Given the description of an element on the screen output the (x, y) to click on. 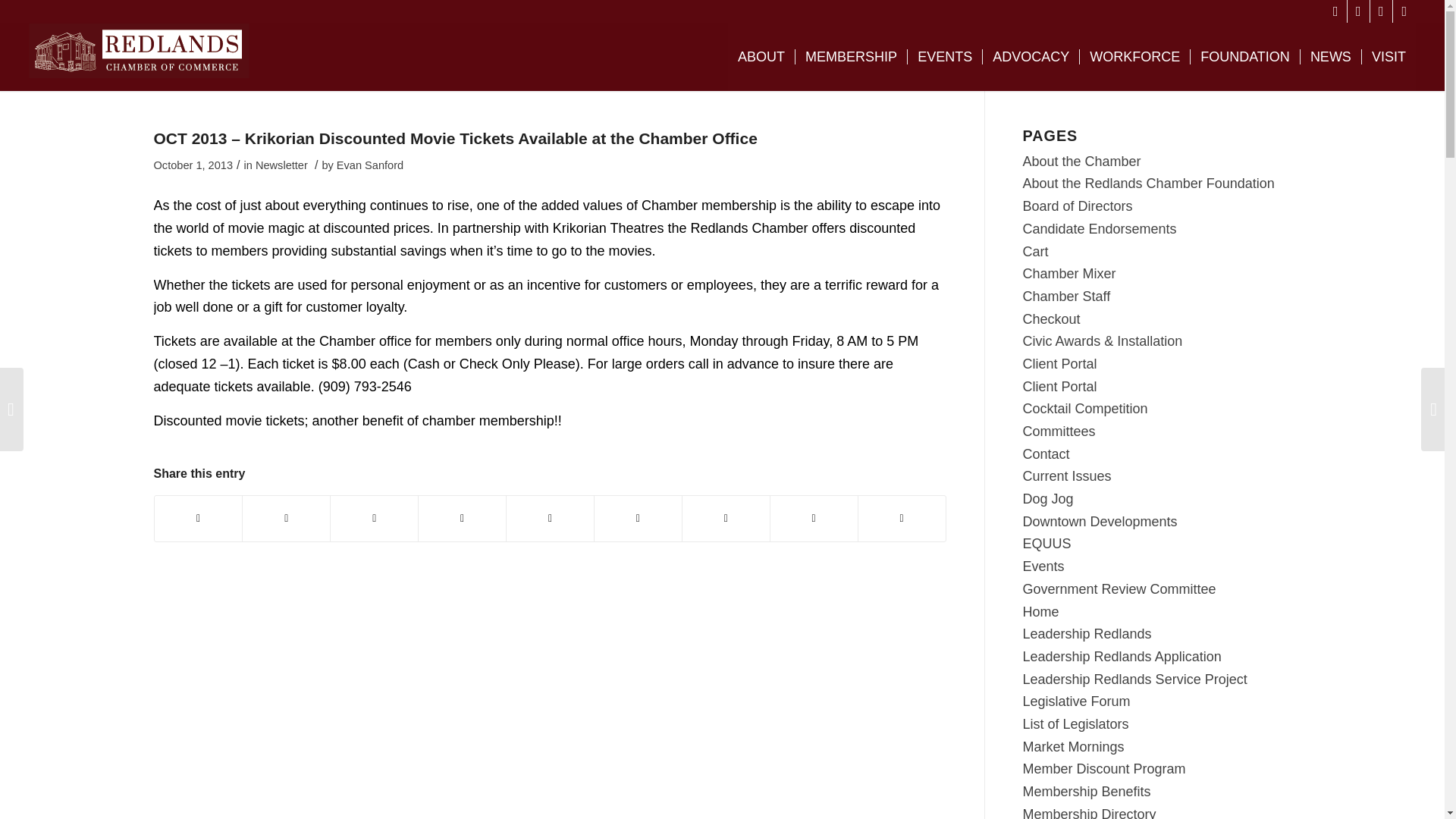
WORKFORCE (1133, 56)
Posts by Evan Sanford (369, 164)
EVENTS (944, 56)
Twitter (1359, 11)
MEMBERSHIP (850, 56)
ABOUT (761, 56)
Instagram (1380, 11)
Facebook (1335, 11)
LinkedIn (1404, 11)
ADVOCACY (1029, 56)
